Given the description of an element on the screen output the (x, y) to click on. 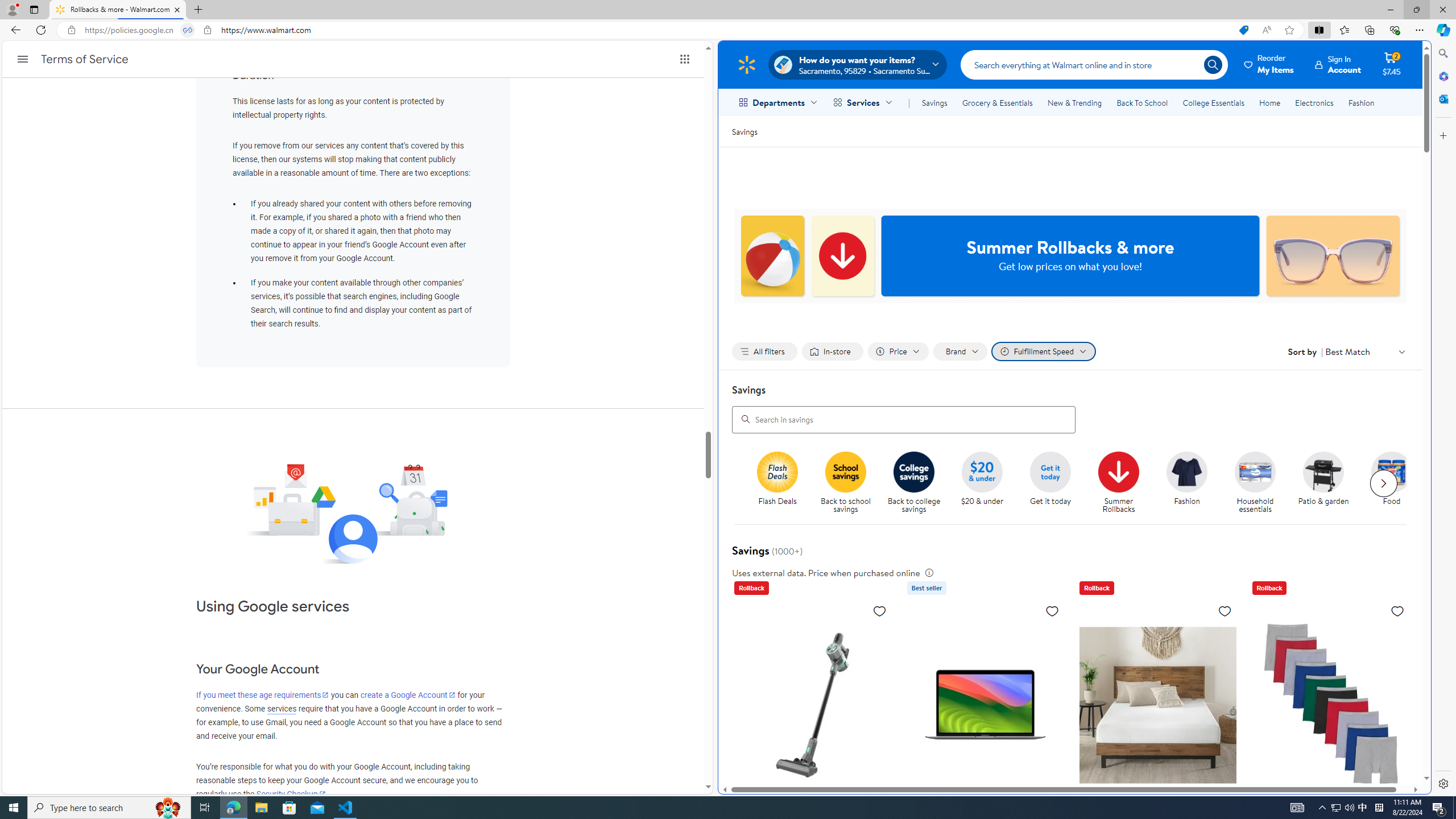
Flash Deals (782, 483)
Fashion Fashion (1187, 478)
College Essentials (1213, 102)
Zinus Spa Sensations Serenity 8" Memory Foam Mattress, Full (1157, 704)
Summer Rollbacks Summer Rollbacks (1118, 483)
Walmart Homepage (746, 64)
Back to college savings (917, 483)
Get it today (1050, 471)
